Given the description of an element on the screen output the (x, y) to click on. 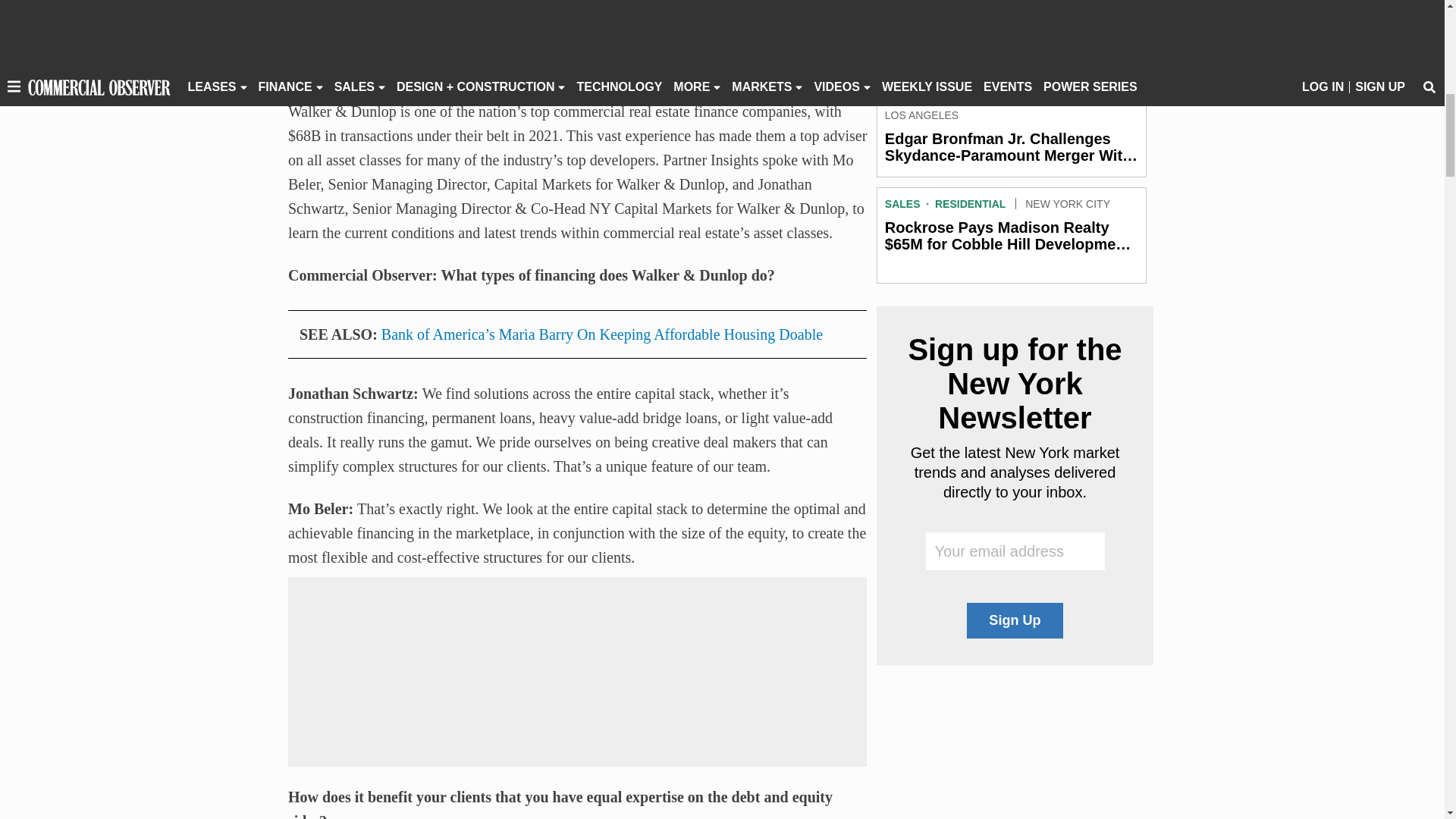
Share on Facebook (301, 54)
Tweet (332, 54)
Send email (392, 54)
Share on LinkedIn (362, 54)
